Given the description of an element on the screen output the (x, y) to click on. 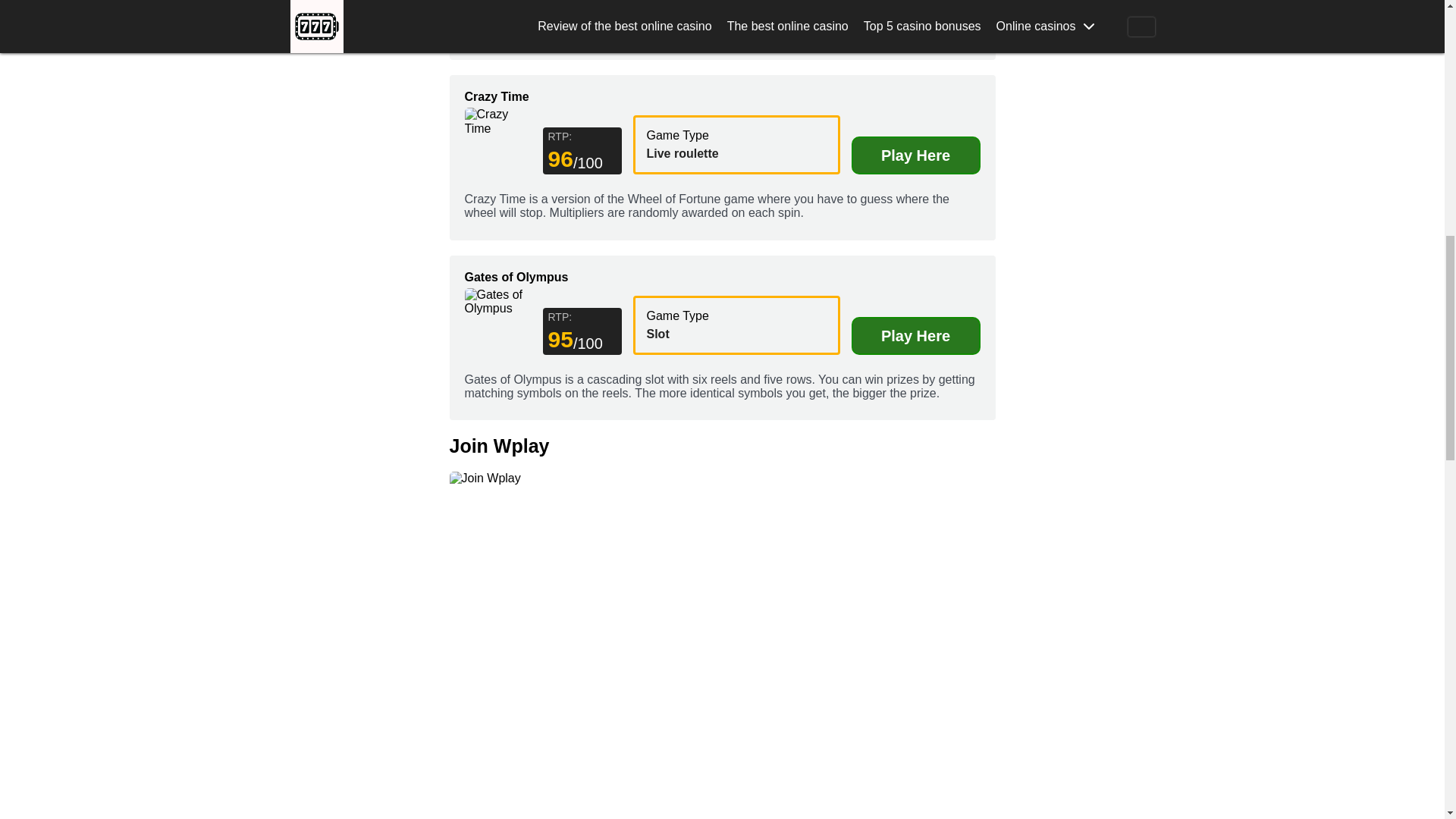
Play Here (914, 155)
Play Here (914, 335)
